Given the description of an element on the screen output the (x, y) to click on. 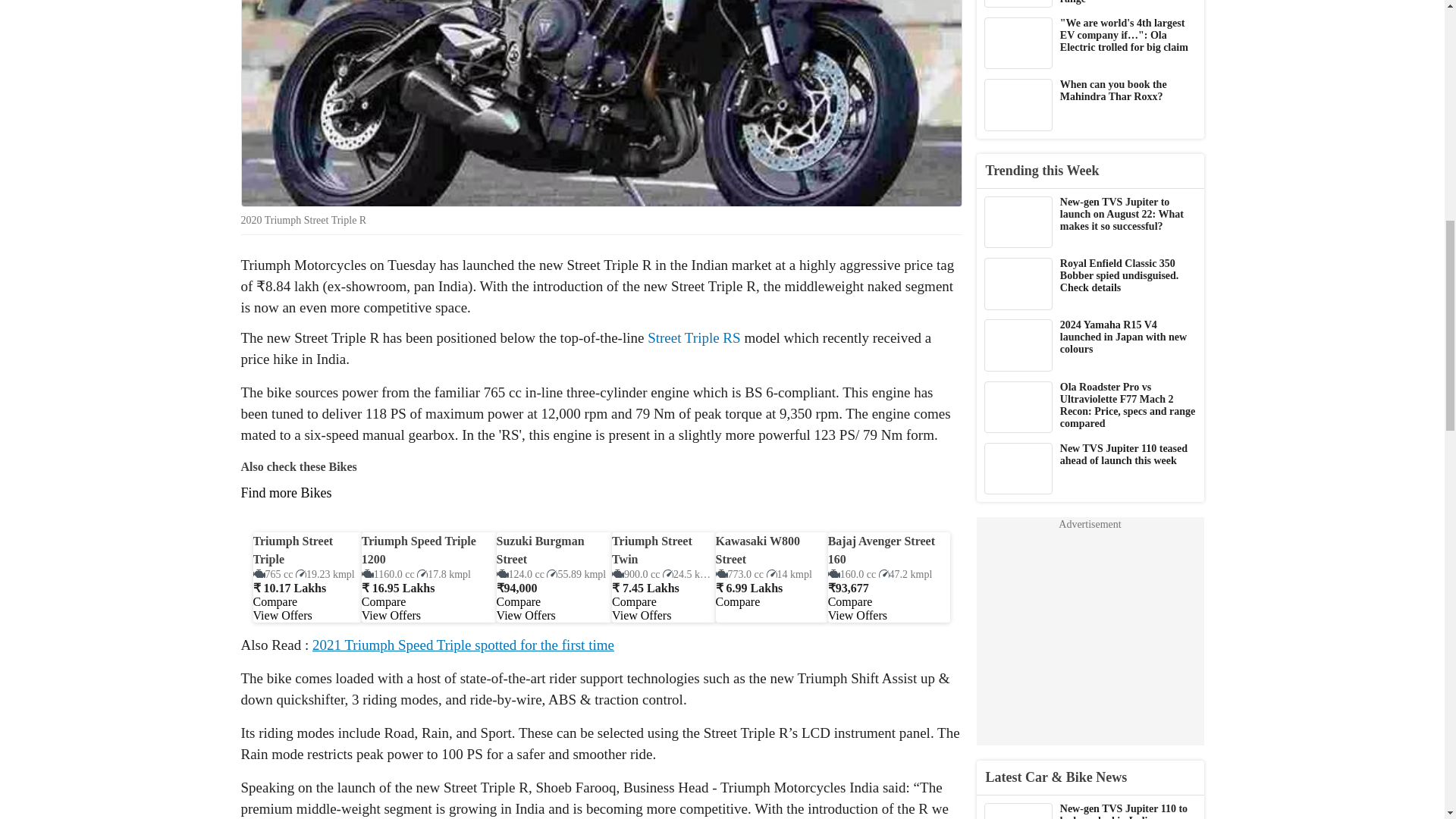
Engine (520, 573)
Mileage (689, 573)
Engine (387, 573)
Mileage (576, 573)
Engine (273, 573)
Mileage (325, 573)
Engine (635, 573)
Mileage (789, 573)
Mileage (443, 573)
Engine (739, 573)
